Given the description of an element on the screen output the (x, y) to click on. 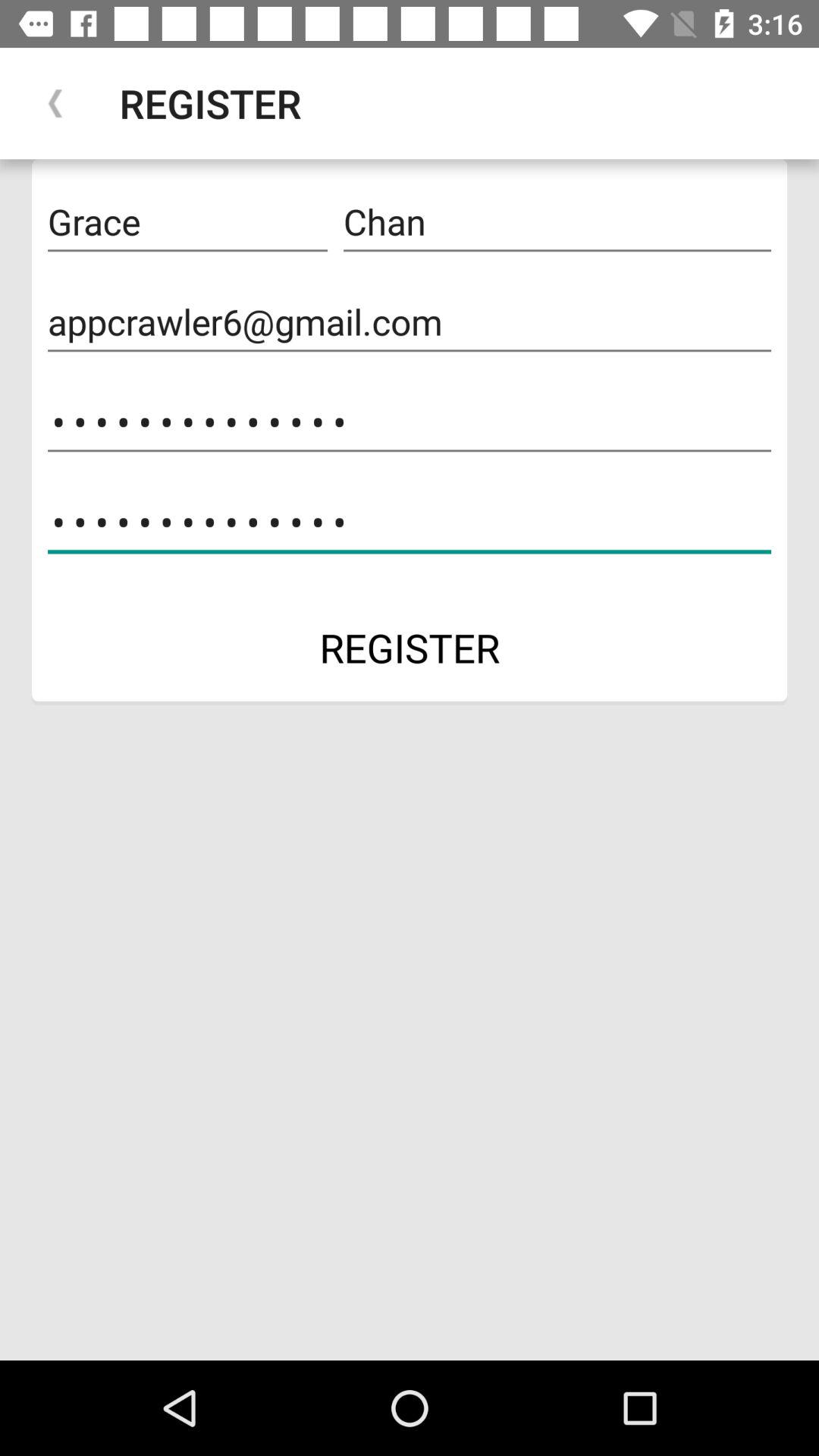
choose item next to grace item (557, 222)
